Given the description of an element on the screen output the (x, y) to click on. 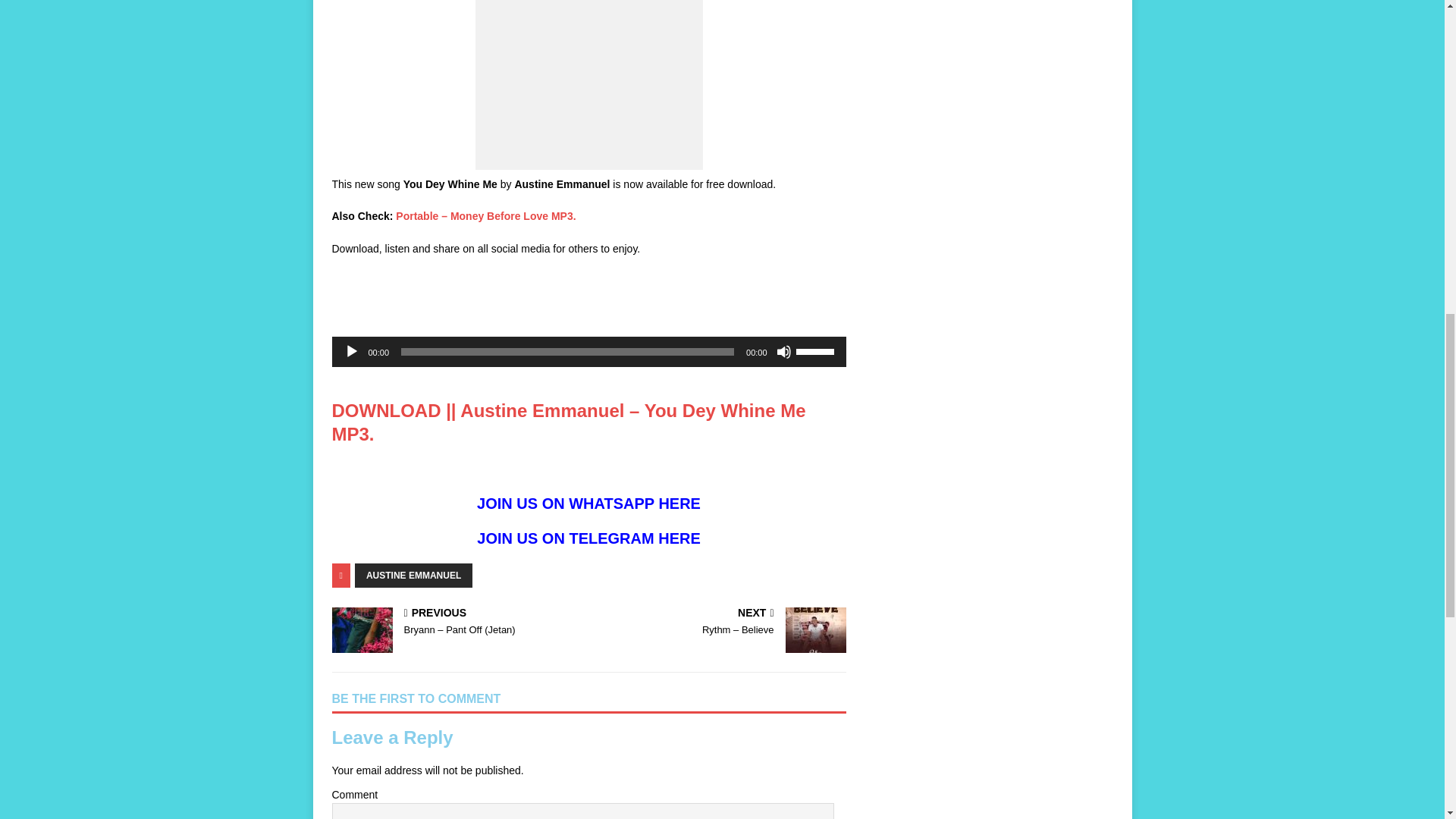
Play (351, 351)
JOIN US ON WHATSAPP HERE (588, 503)
JOIN US ON TELEGRAM HERE (588, 538)
Mute (784, 351)
